Given the description of an element on the screen output the (x, y) to click on. 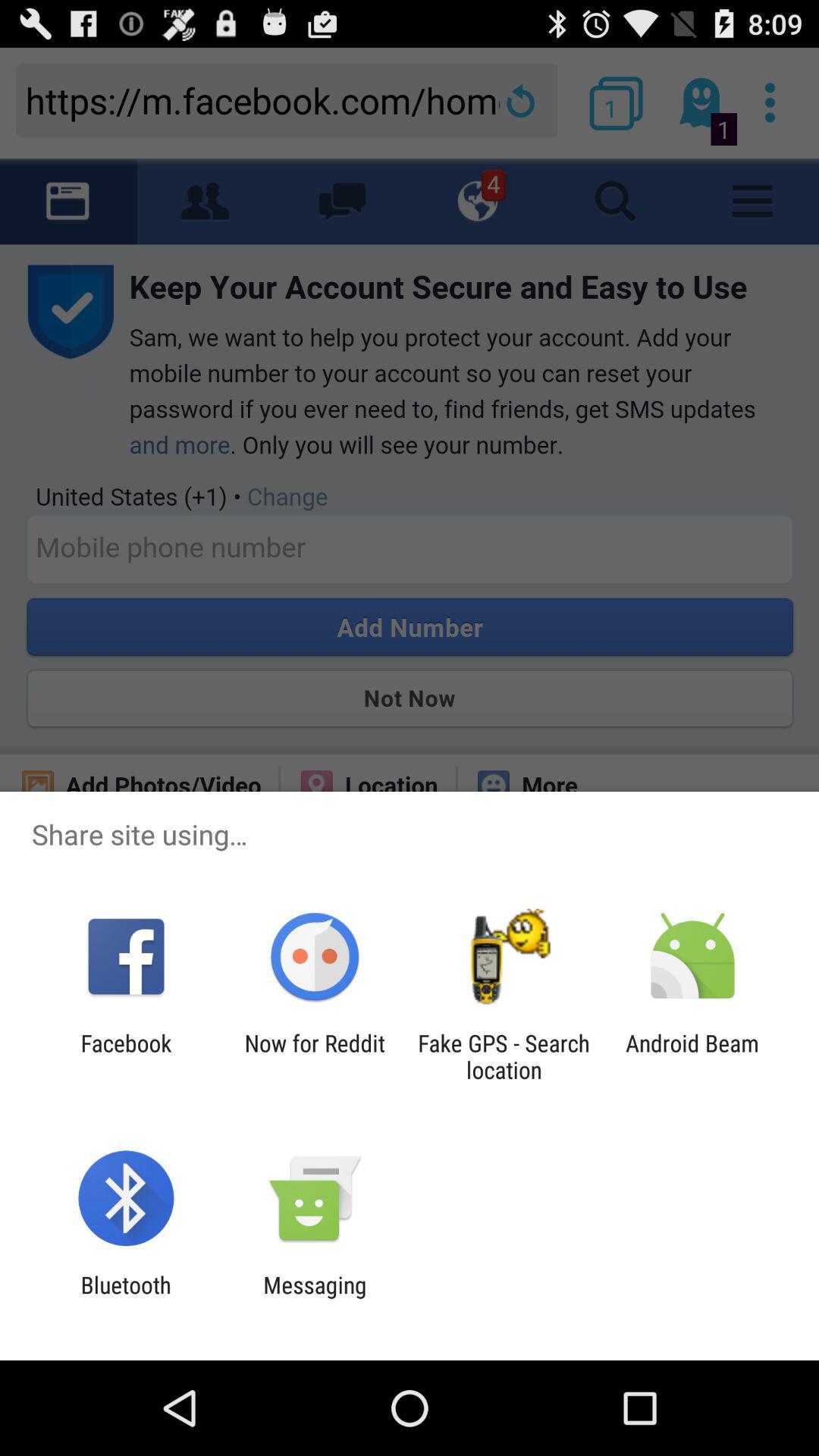
turn off icon next to the messaging (125, 1298)
